Given the description of an element on the screen output the (x, y) to click on. 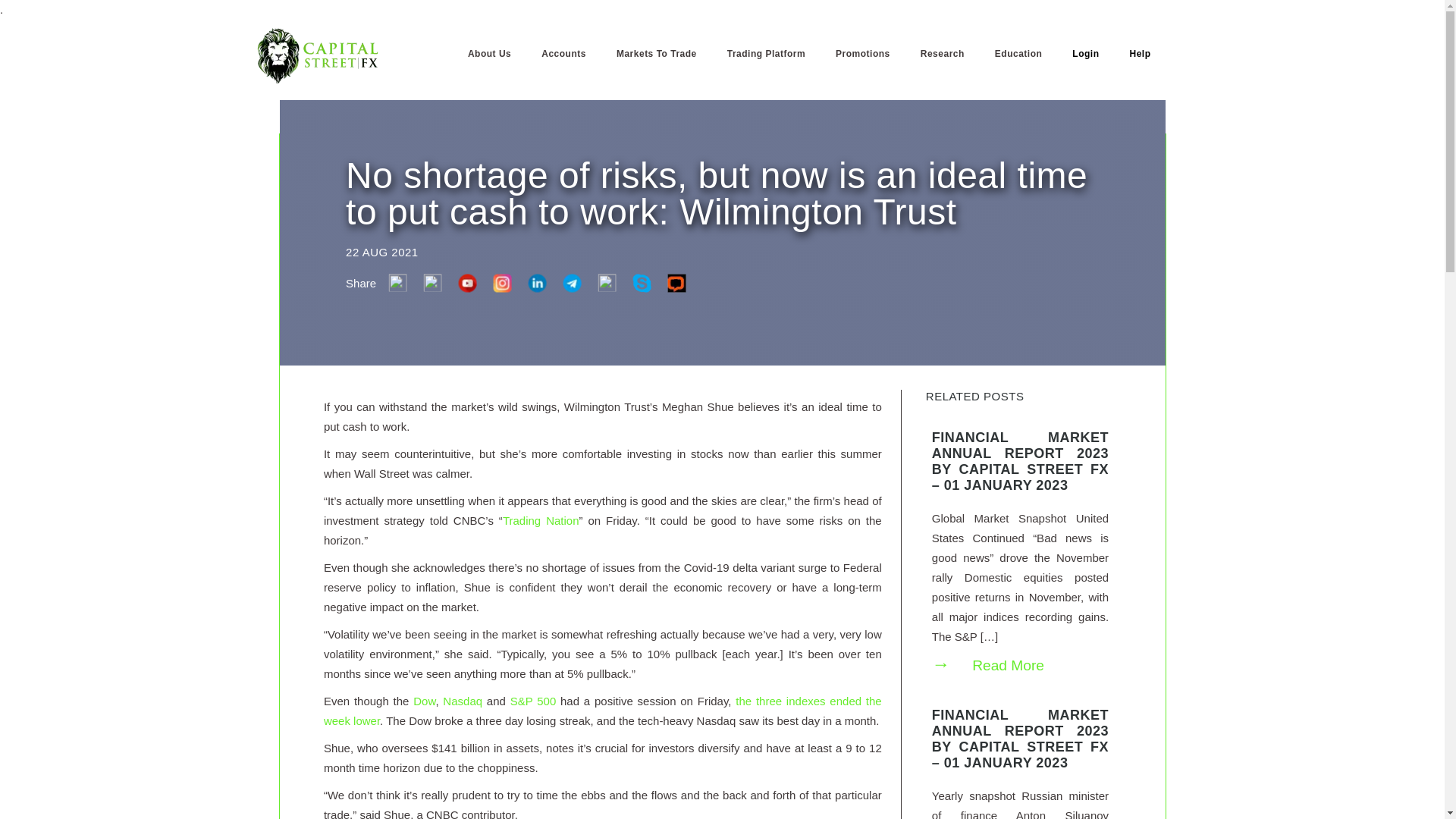
 live chat (676, 286)
Twitter (432, 286)
Instagram (501, 286)
linkedin (536, 286)
Youtube (466, 286)
Facebook (397, 286)
telegram (571, 286)
skype (641, 286)
whatsapp (606, 286)
